Given the description of an element on the screen output the (x, y) to click on. 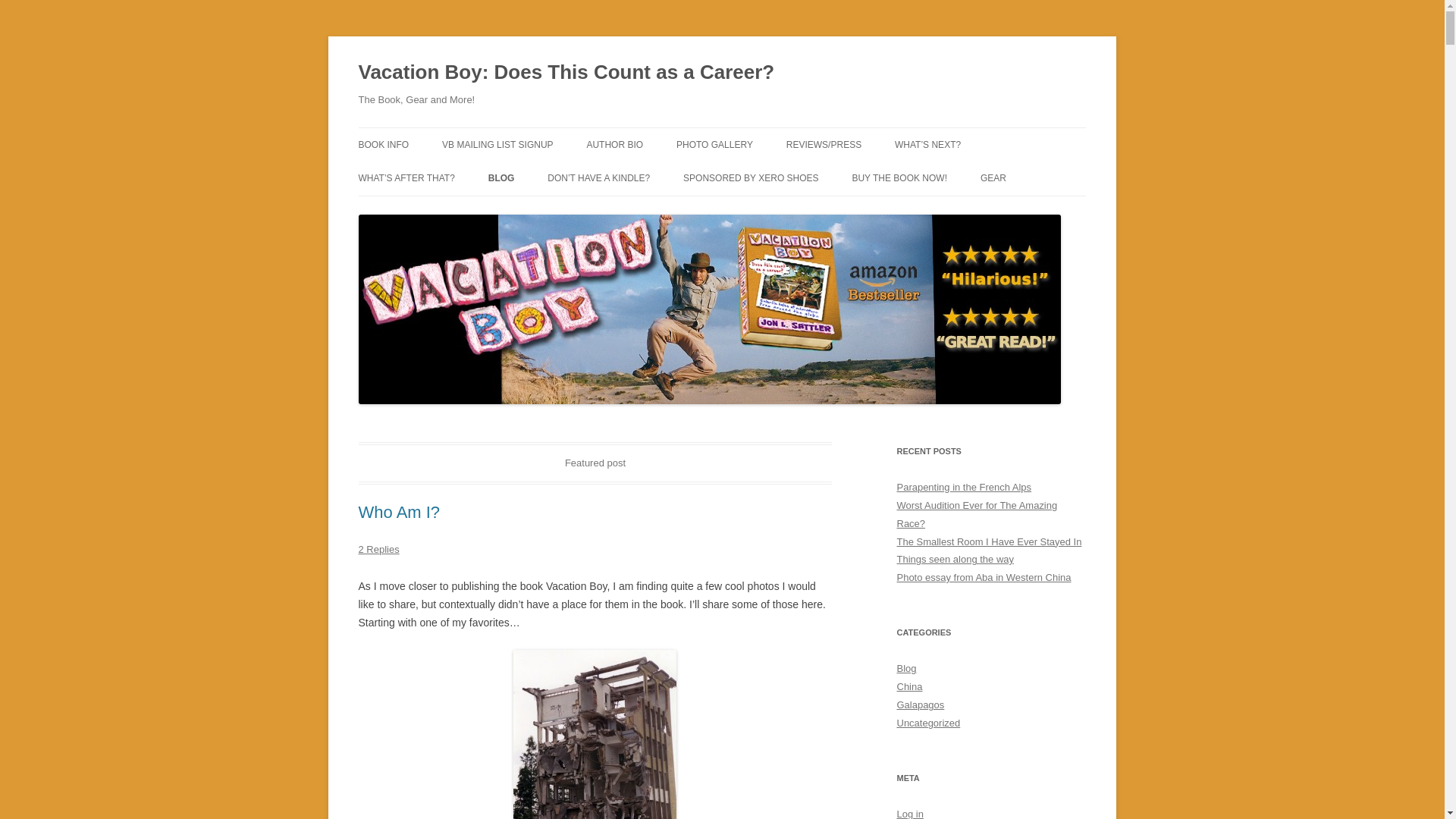
BUY THE BOOK NOW! (899, 177)
Vacation Boy: Does This Count as a Career? (566, 72)
VB MAILING LIST SIGNUP (497, 144)
Who Am I? (398, 511)
Permalink to Who Am I? (398, 511)
Skip to content (757, 132)
AUTHOR BIO (614, 144)
SPONSORED BY XERO SHOES (750, 177)
Xero Shoes: the home for barefoot running! (750, 177)
PHOTO GALLERY (714, 144)
